Given the description of an element on the screen output the (x, y) to click on. 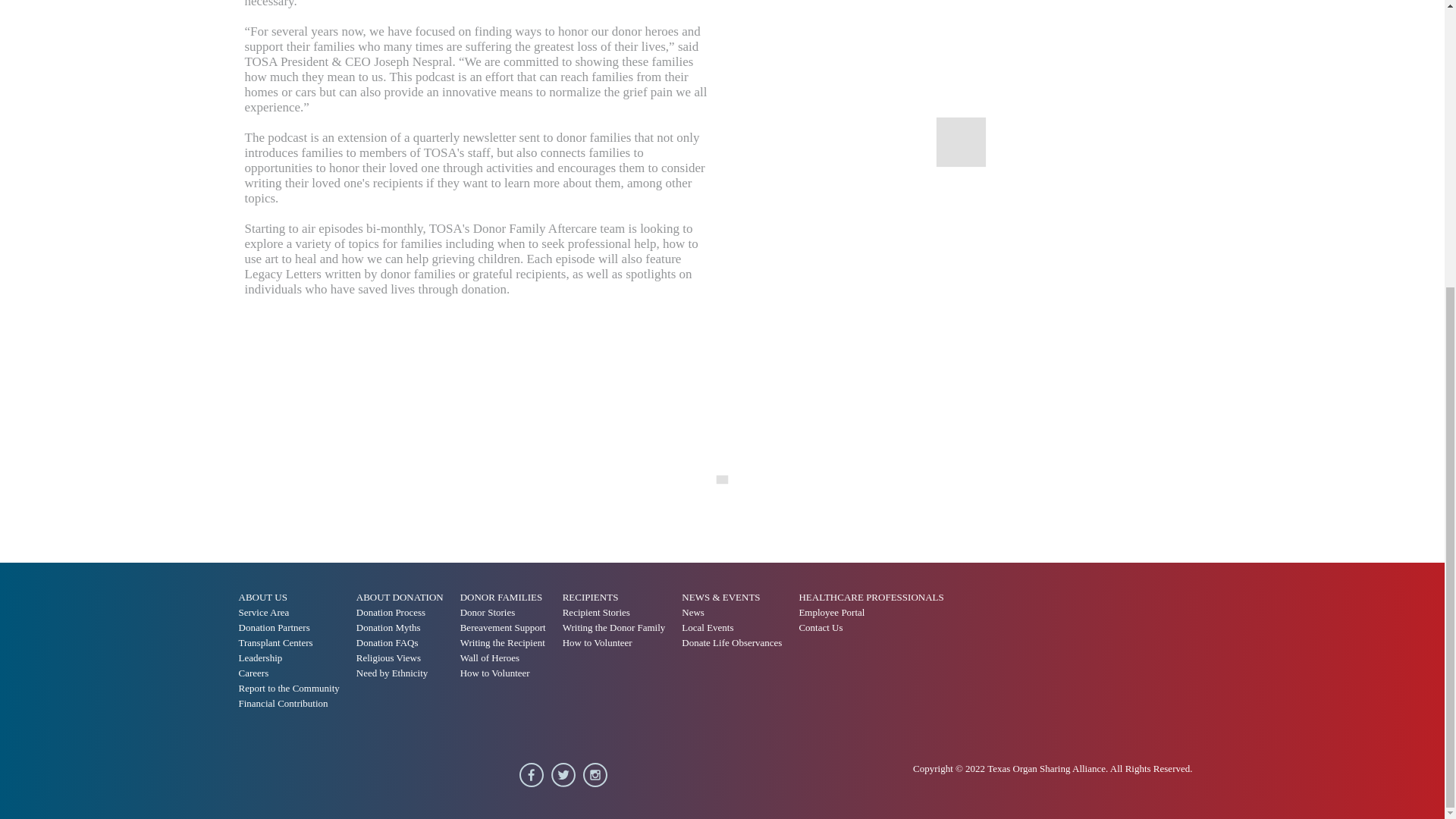
Visit us on Facebook (535, 776)
Leadership (294, 657)
Careers (294, 672)
ABOUT US (268, 597)
Transplant Centers (294, 642)
Donation Partners (294, 627)
Report to the Community (294, 688)
Visit us on Twitter (567, 776)
Service Area (294, 612)
Financial Contribution (294, 703)
